Given the description of an element on the screen output the (x, y) to click on. 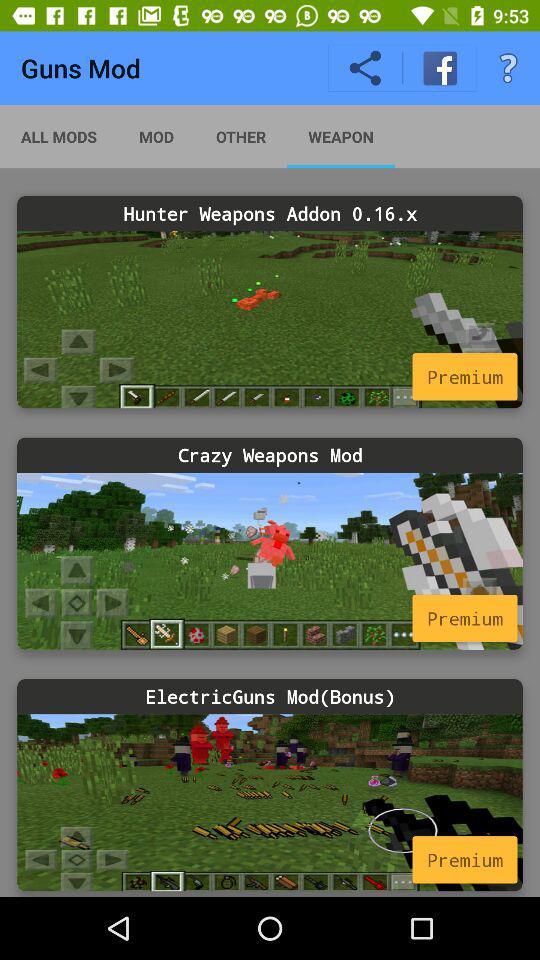
switch to electriguns mod bonus option (269, 802)
